Given the description of an element on the screen output the (x, y) to click on. 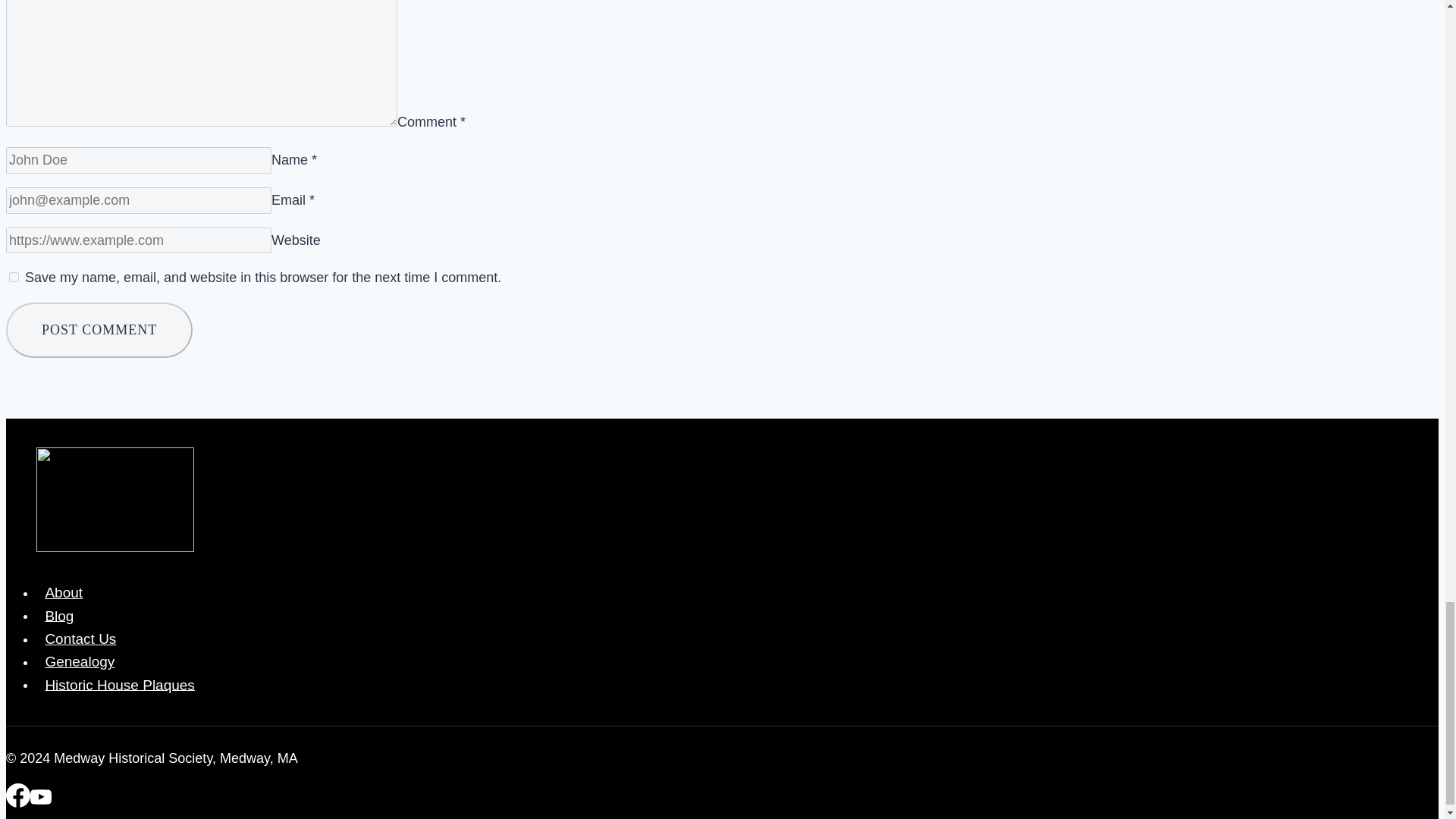
Contact Us (80, 638)
YouTube (40, 800)
yes (13, 276)
Post Comment (98, 329)
Facebook (17, 800)
Genealogy (79, 661)
Historic House Plaques (119, 684)
Post Comment (98, 329)
YouTube (40, 796)
About (63, 591)
Blog (59, 615)
Facebook (17, 794)
